Given the description of an element on the screen output the (x, y) to click on. 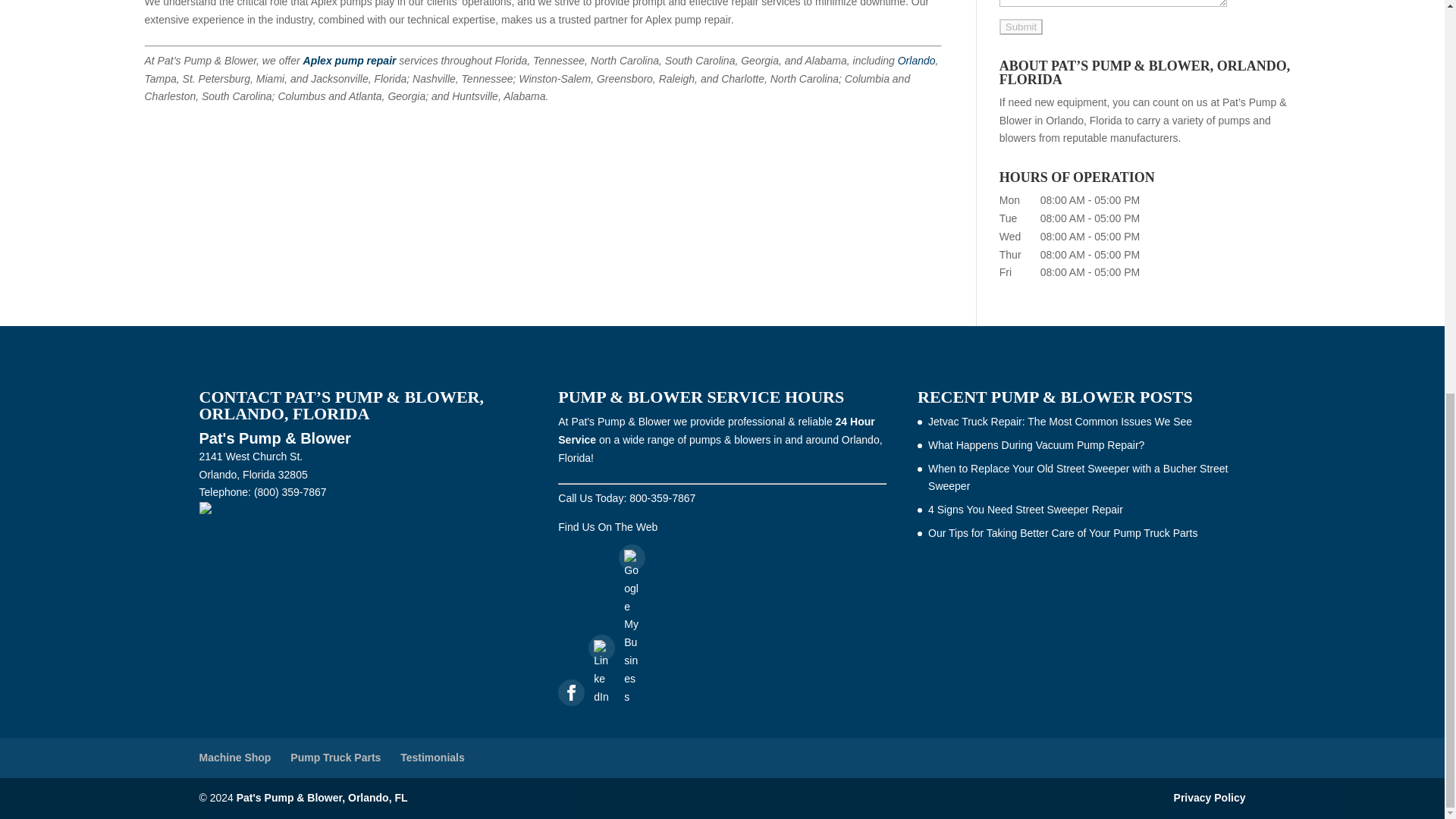
Submit (1020, 26)
Facebook (571, 691)
LinkedIn (601, 647)
Facebook (571, 692)
Google My Business (631, 557)
